Given the description of an element on the screen output the (x, y) to click on. 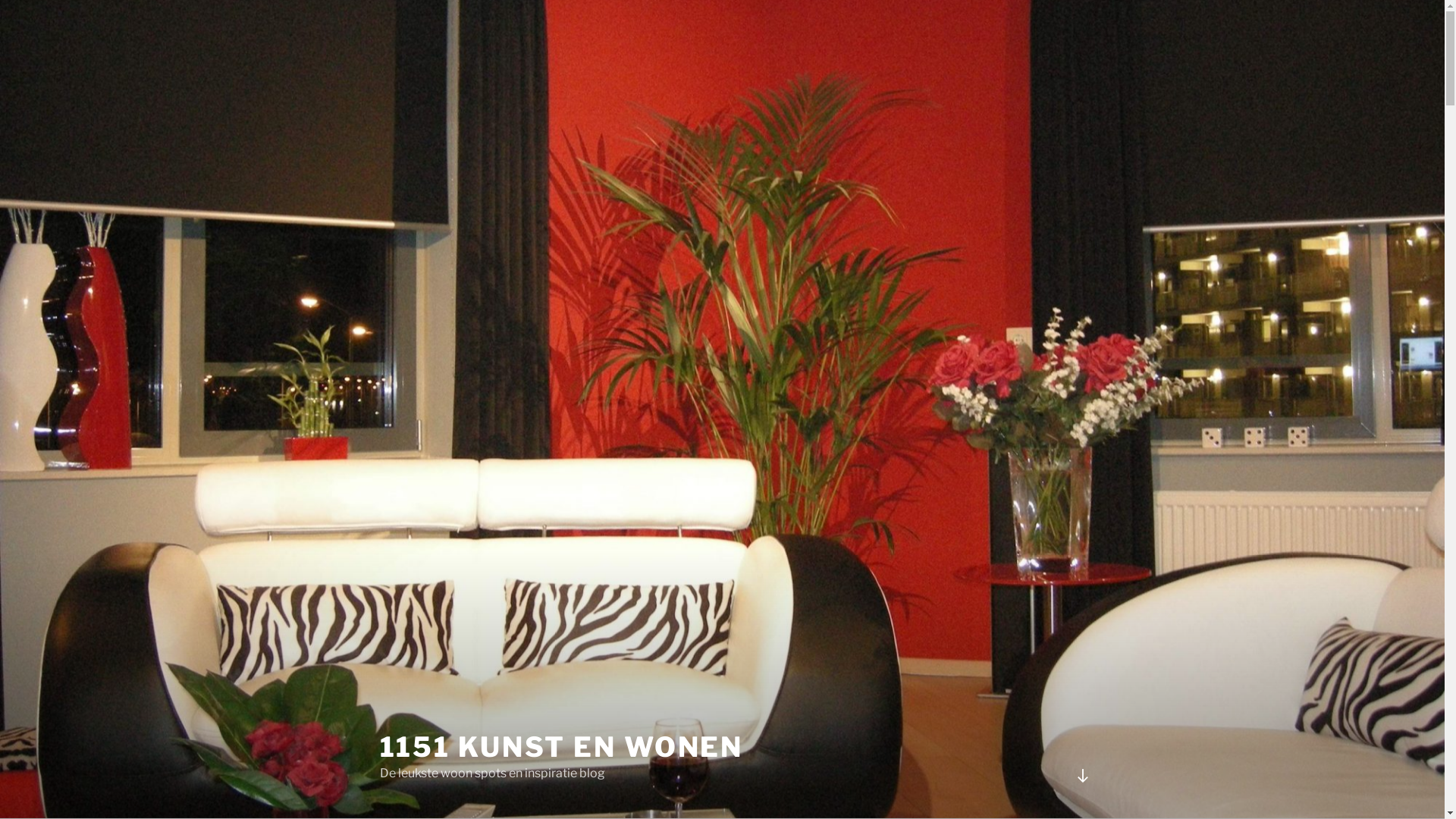
Naar de inhoud springen Element type: text (0, 0)
Scroll omlaag naar de content Element type: text (1082, 775)
1151 KUNST EN WONEN Element type: text (561, 746)
